Given the description of an element on the screen output the (x, y) to click on. 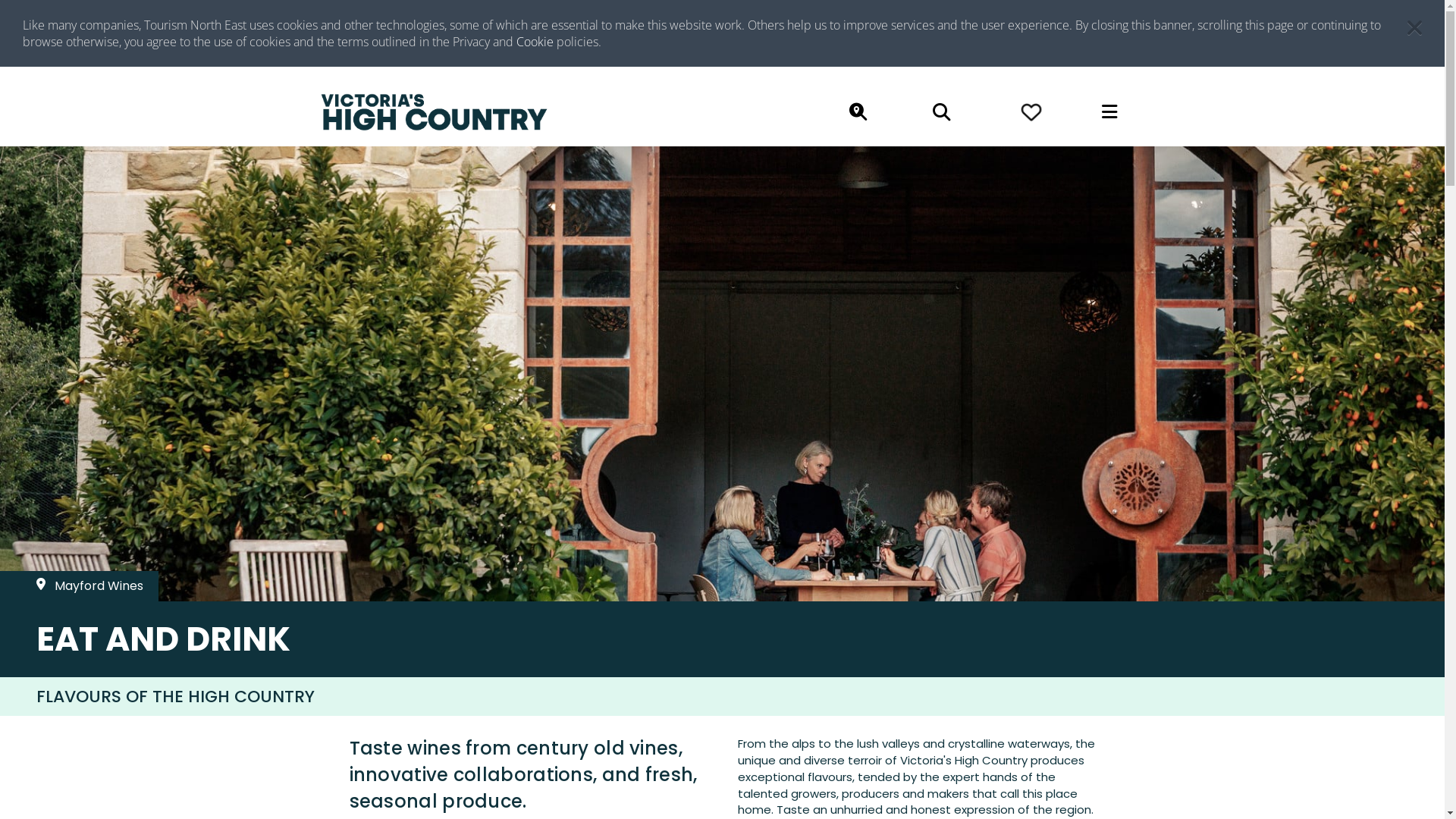
Mayford Wines Element type: text (79, 586)
Mayford Wines Element type: text (79, 584)
Like and share your Wishlist Element type: hover (1031, 110)
VHC-Logo-Horizontal-DarkGreen-v2 Element type: hover (433, 112)
Cookie Element type: text (534, 41)
Privacy Element type: text (472, 41)
